Given the description of an element on the screen output the (x, y) to click on. 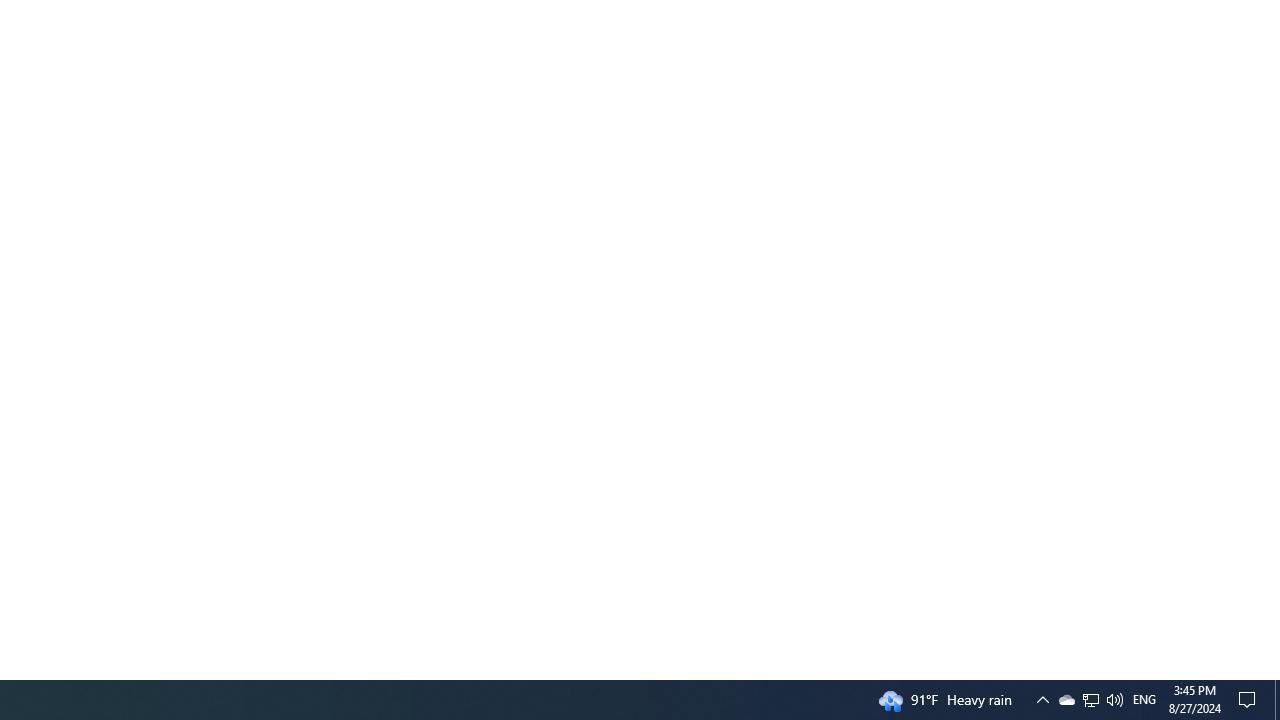
Tray Input Indicator - English (United States) (1144, 699)
